Given the description of an element on the screen output the (x, y) to click on. 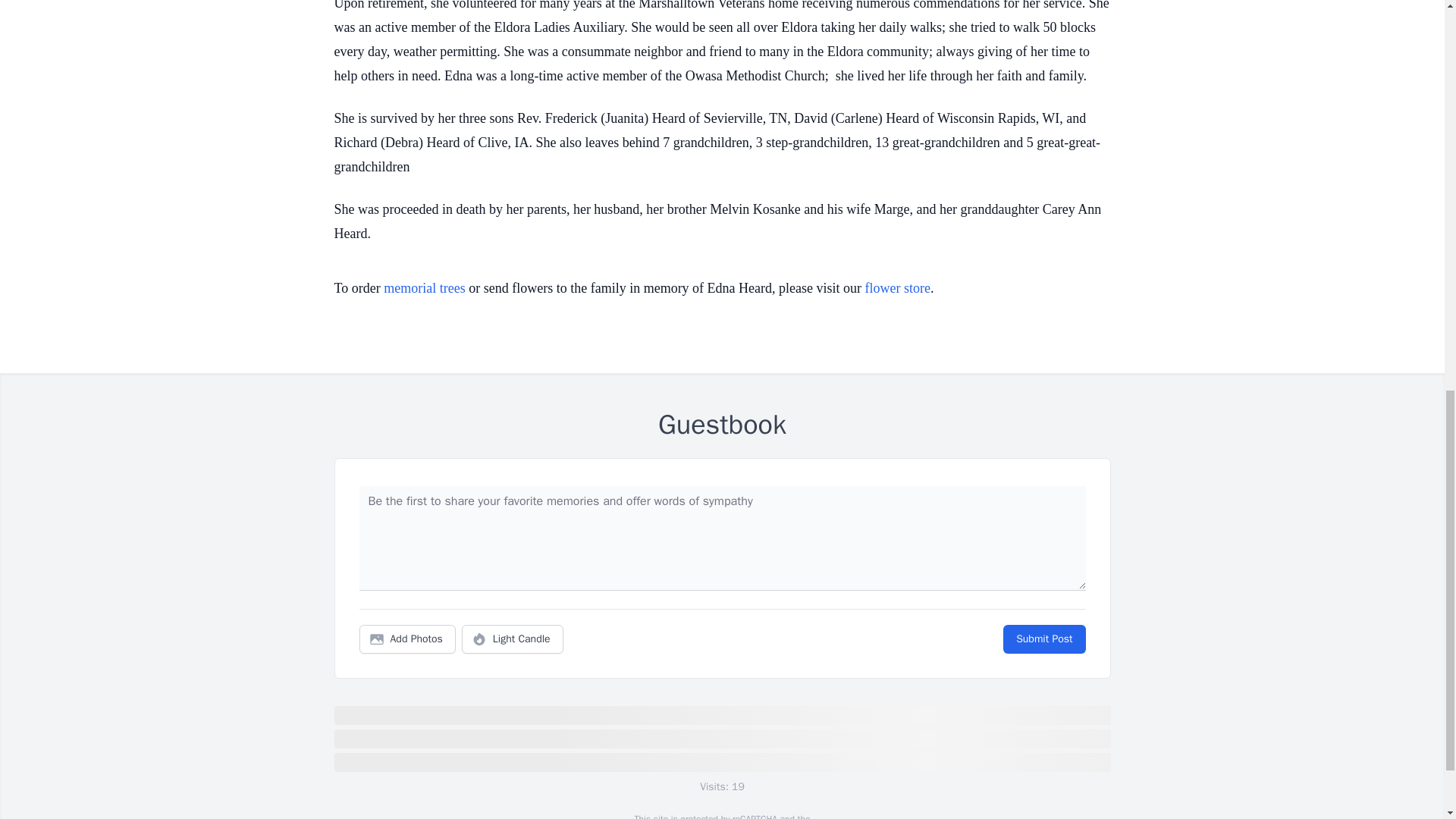
Light Candle (512, 638)
Submit Post (1043, 638)
memorial trees (424, 287)
flower store (897, 287)
Add Photos (407, 638)
